Given the description of an element on the screen output the (x, y) to click on. 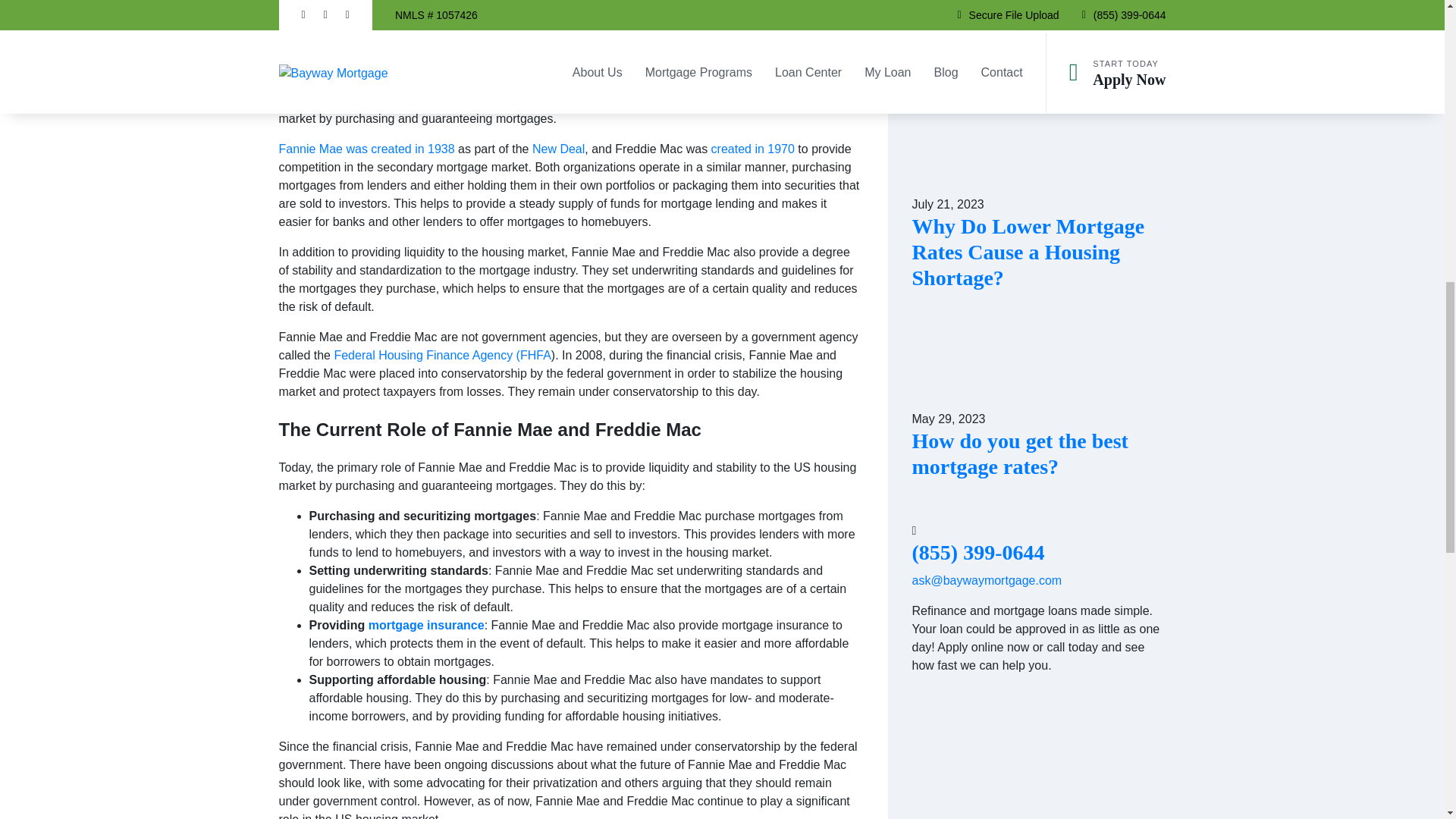
mortgage insurance (426, 625)
Freddie Mac (314, 82)
Fannie Mae was created in 1938 (368, 148)
New Deal (558, 148)
Fannie Mae (646, 82)
created in 1970 (752, 148)
